Given the description of an element on the screen output the (x, y) to click on. 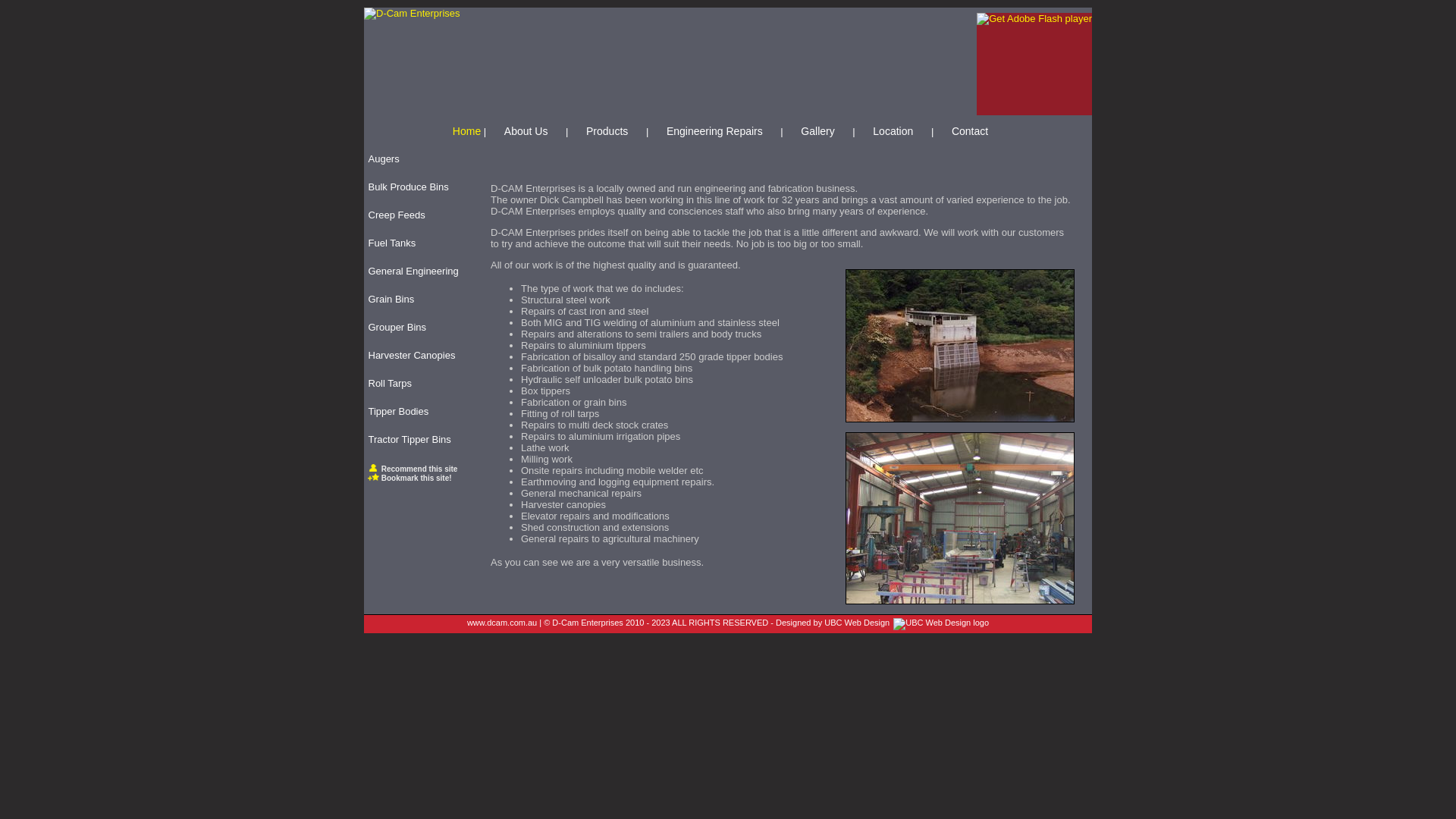
UBC Web Design Element type: text (856, 622)
Gallery Element type: text (817, 131)
Grouper Bins Element type: text (418, 329)
General Engineering Element type: text (418, 273)
Tipper Bodies Element type: text (418, 413)
Roll Tarps Element type: text (418, 385)
Home Element type: text (466, 131)
Augers Element type: text (418, 161)
Creep Feeds Element type: text (418, 217)
About Us Element type: text (525, 131)
General Workshop Element type: hover (959, 518)
Grain Bins Element type: text (418, 301)
Bookmark this site! Element type: text (409, 477)
Contact Element type: text (969, 131)
Location Element type: text (892, 131)
Tractor Tipper Bins Element type: text (418, 441)
Products Element type: text (606, 131)
Harvester Canopies Element type: text (418, 357)
Engineering Repairs Element type: text (714, 131)
Fuel Tanks Element type: text (418, 245)
Bulk Produce Bins Element type: text (418, 189)
Recommend this site Element type: text (412, 468)
